Given the description of an element on the screen output the (x, y) to click on. 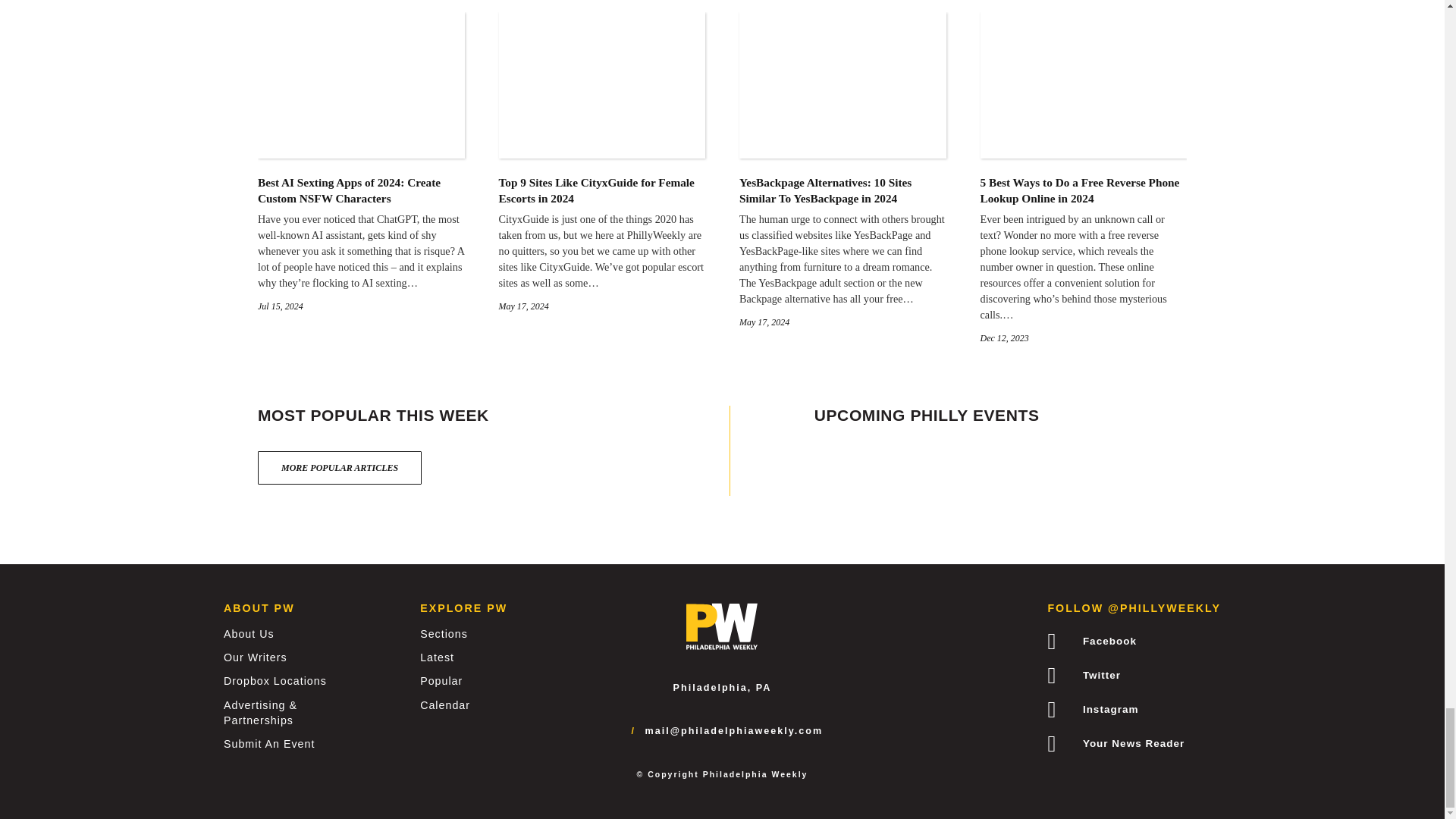
Best AI Sexting Apps of 2024: Create Custom NSFW Characters (360, 190)
Best AI Sexting Apps of 2024: Create Custom NSFW Characters (360, 147)
Top 9 Sites Like CityxGuide for Female Escorts in 2024 (602, 190)
Top 9 Sites Like CityxGuide for Female Escorts in 2024 (602, 147)
